Given the description of an element on the screen output the (x, y) to click on. 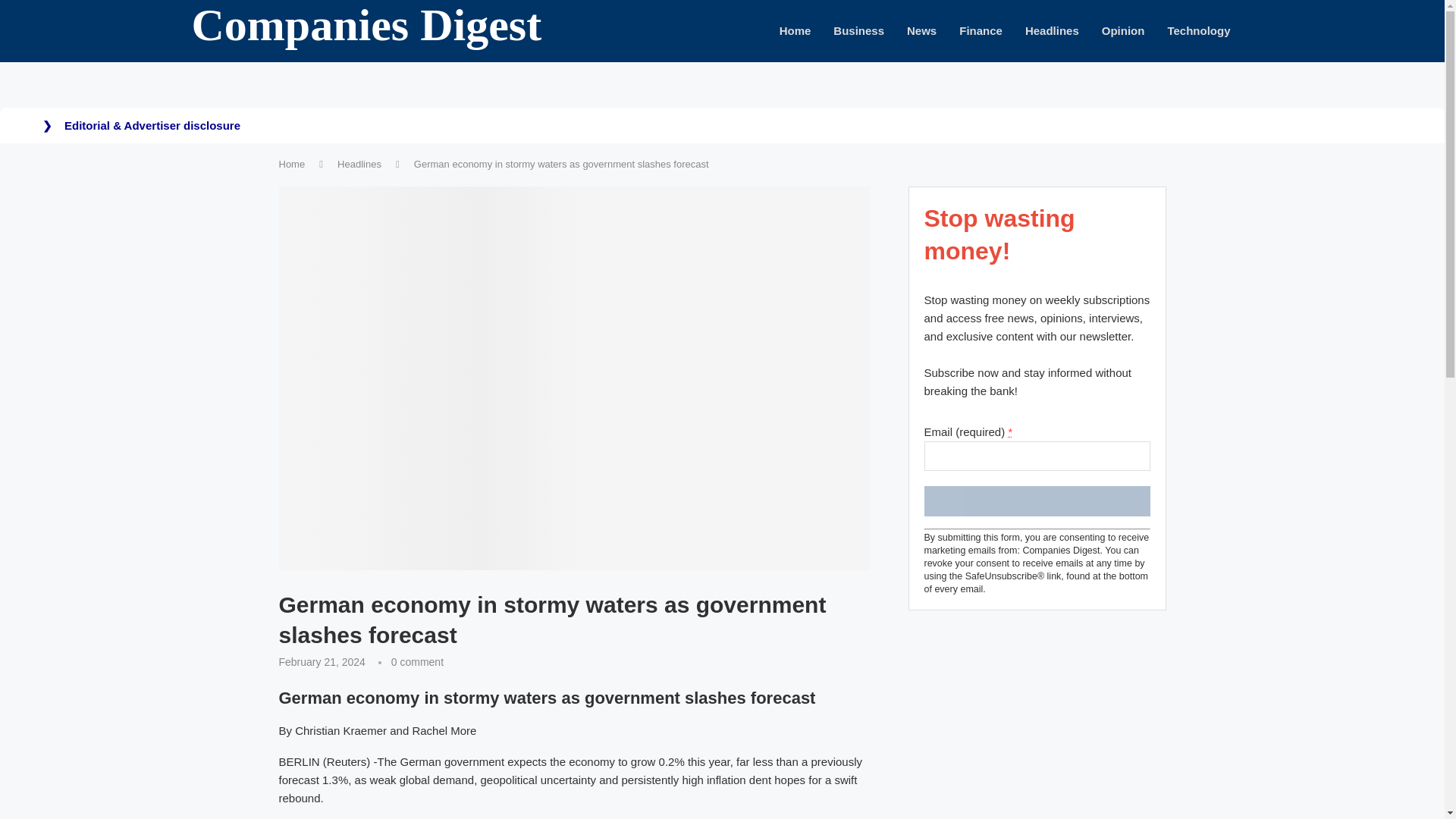
Sign up! (1036, 501)
Technology (1198, 30)
Companies Digest (365, 31)
Home (292, 163)
Sign up! (1036, 501)
Headlines (359, 163)
